Given the description of an element on the screen output the (x, y) to click on. 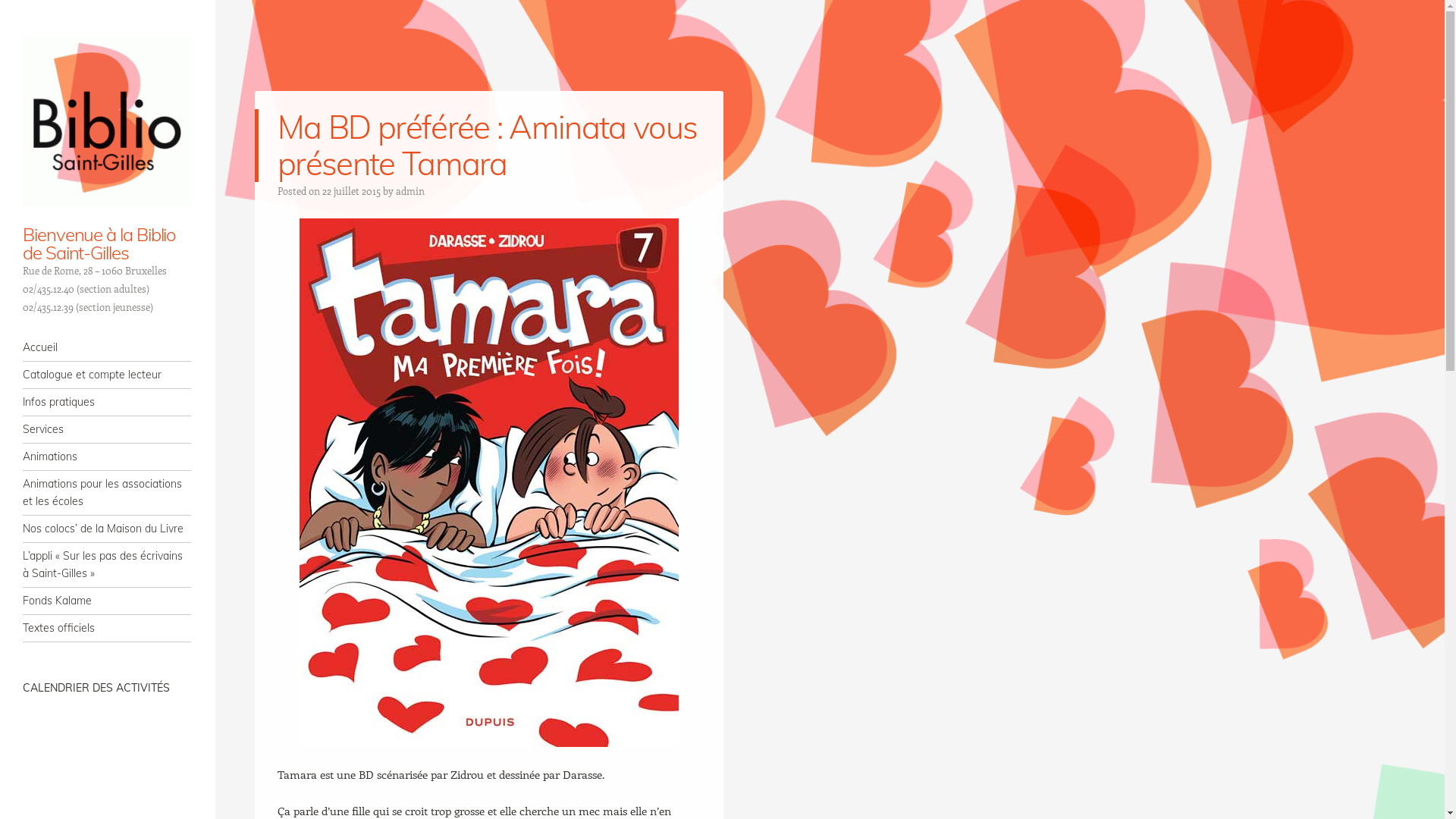
Infos pratiques Element type: text (106, 402)
Fonds Kalame Element type: text (106, 600)
Skip to content Element type: text (59, 347)
Accueil Element type: text (106, 347)
22 juillet 2015 Element type: text (351, 190)
Services Element type: text (106, 429)
Animations Element type: text (106, 456)
Textes officiels Element type: text (106, 628)
admin Element type: text (409, 190)
Catalogue et compte lecteur Element type: text (106, 374)
Search Element type: text (31, 11)
